Given the description of an element on the screen output the (x, y) to click on. 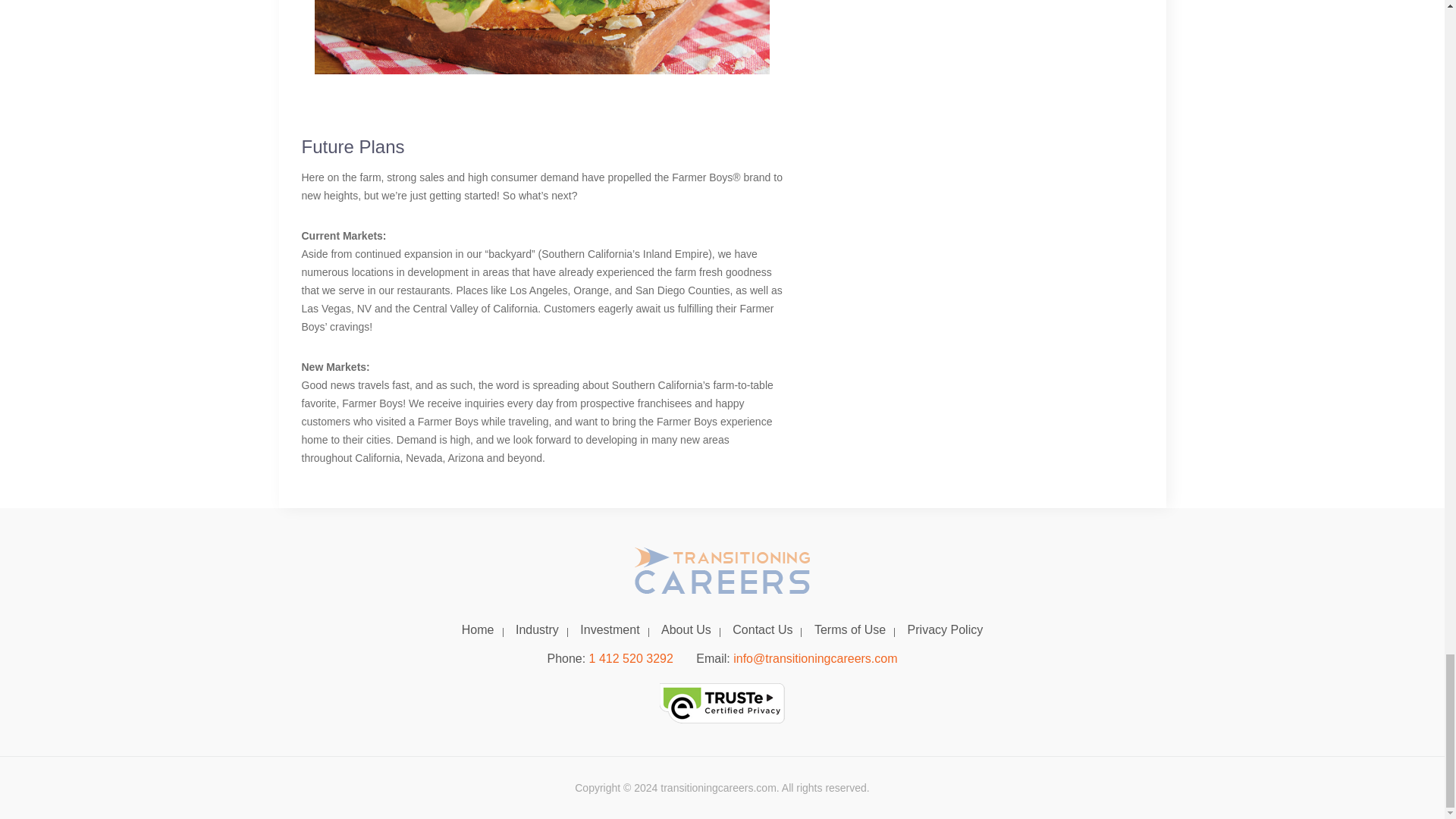
Industry (536, 630)
Terms of Use (850, 630)
About Us (686, 630)
Home (477, 630)
1 412 520 3292 (630, 658)
Contact Us (762, 630)
Privacy Policy (945, 630)
Investment (608, 630)
